Given the description of an element on the screen output the (x, y) to click on. 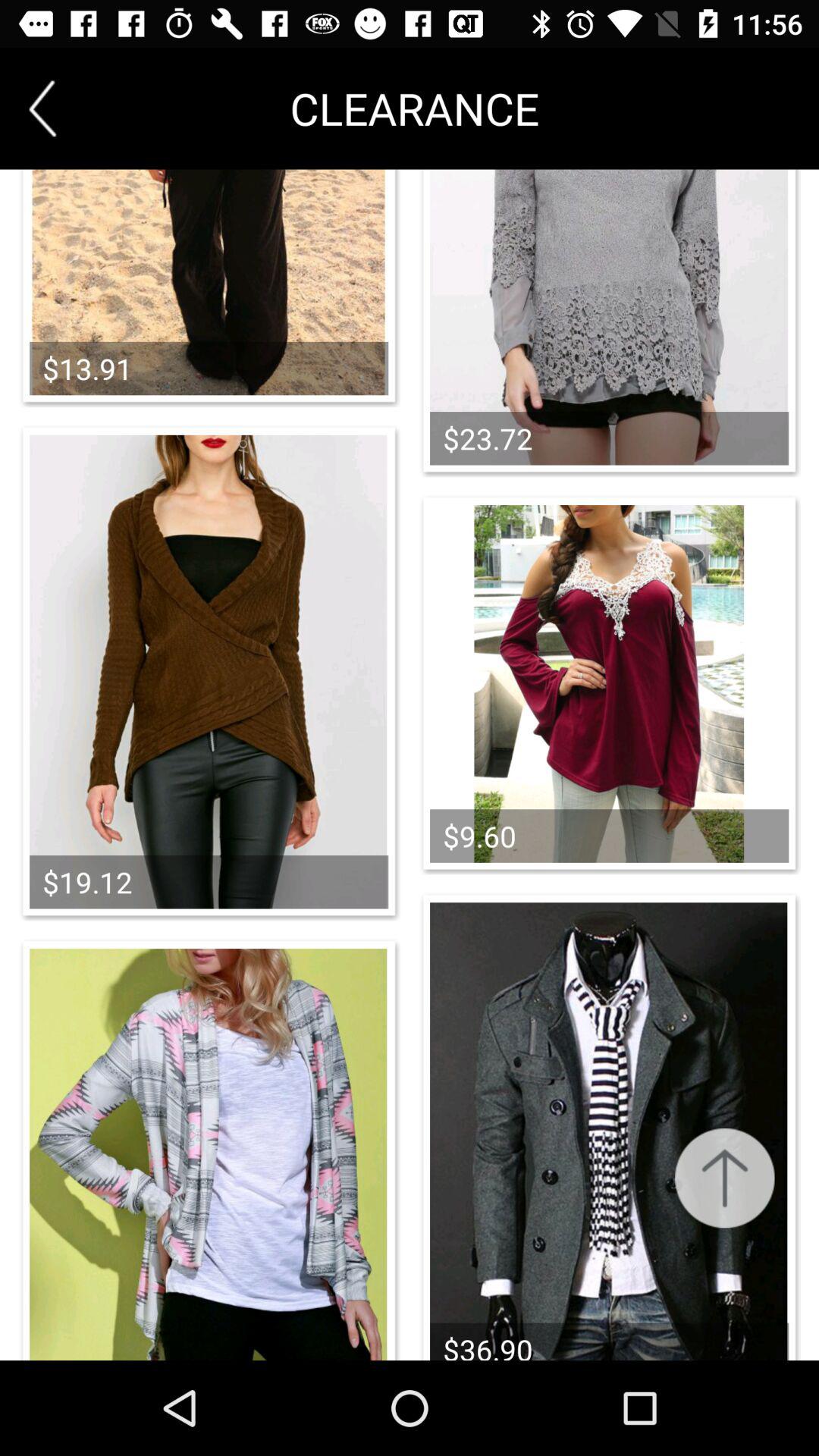
choose item next to clearance icon (42, 108)
